Given the description of an element on the screen output the (x, y) to click on. 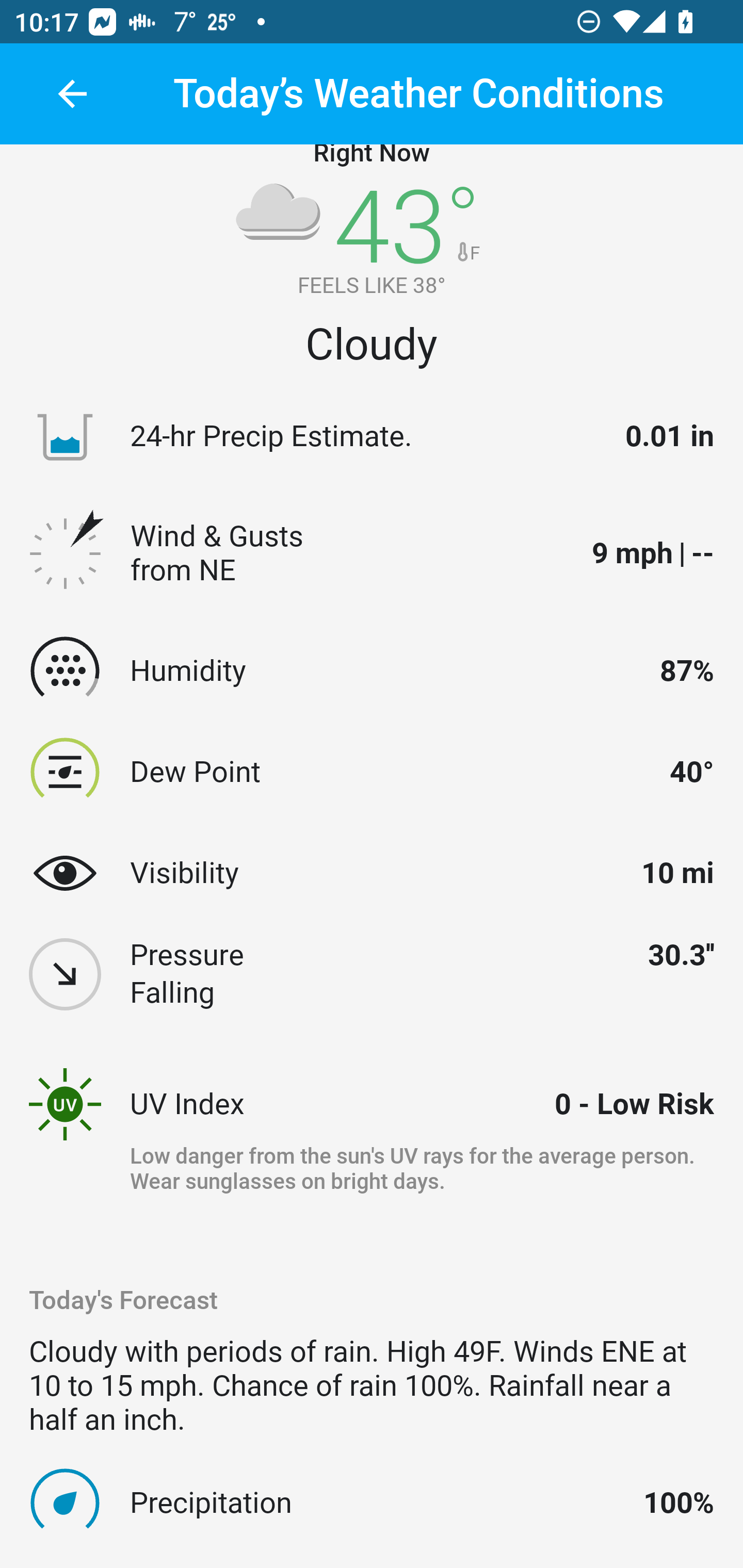
back (71, 93)
Precipitation (377, 1502)
100% (678, 1502)
